Given the description of an element on the screen output the (x, y) to click on. 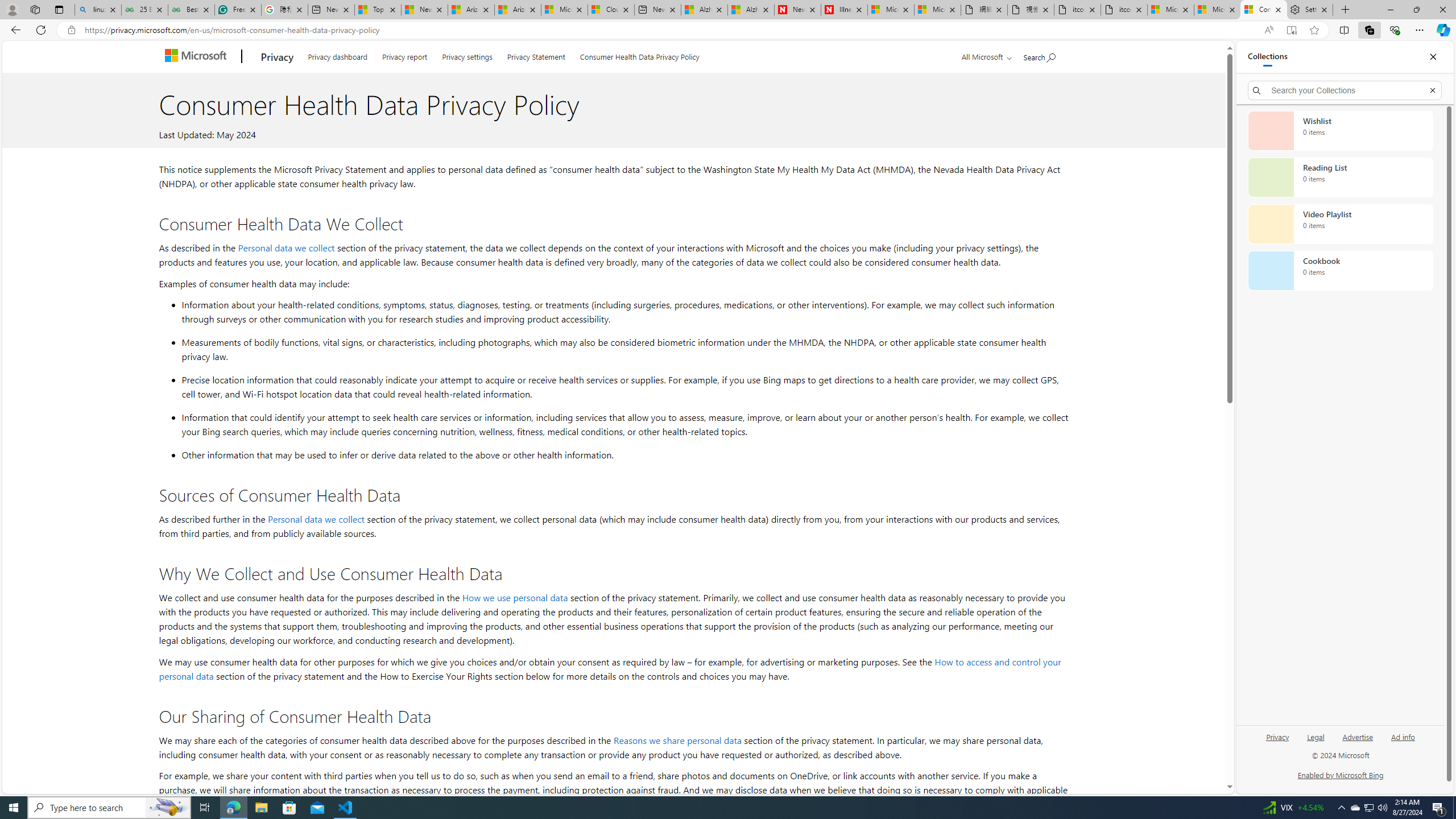
Personal data we collect (315, 518)
Search your Collections (1345, 90)
Privacy report (404, 54)
Privacy settings (466, 54)
Reasons we share personal data (676, 739)
Exit search (1432, 90)
